Given the description of an element on the screen output the (x, y) to click on. 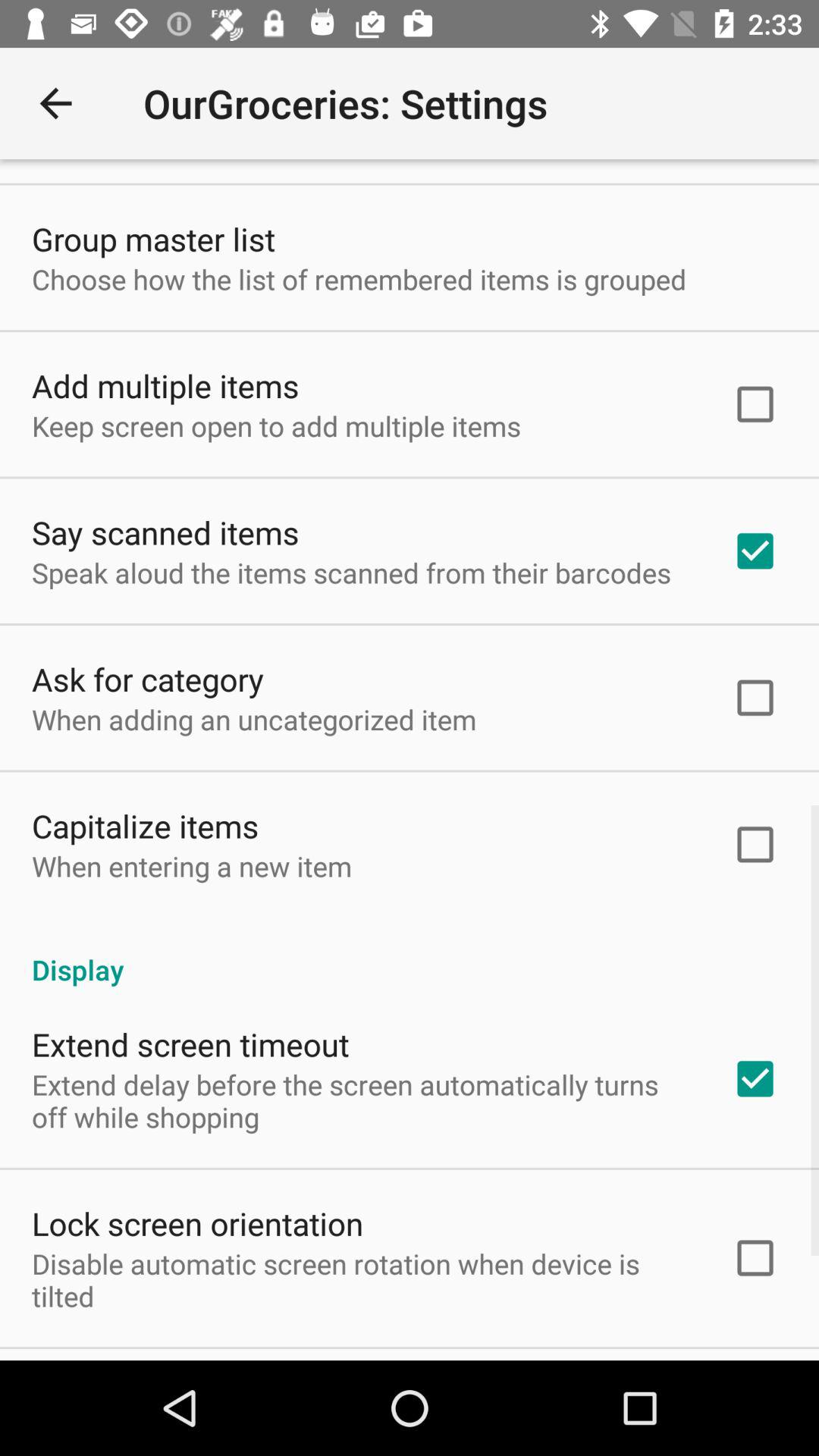
jump to display (409, 953)
